Given the description of an element on the screen output the (x, y) to click on. 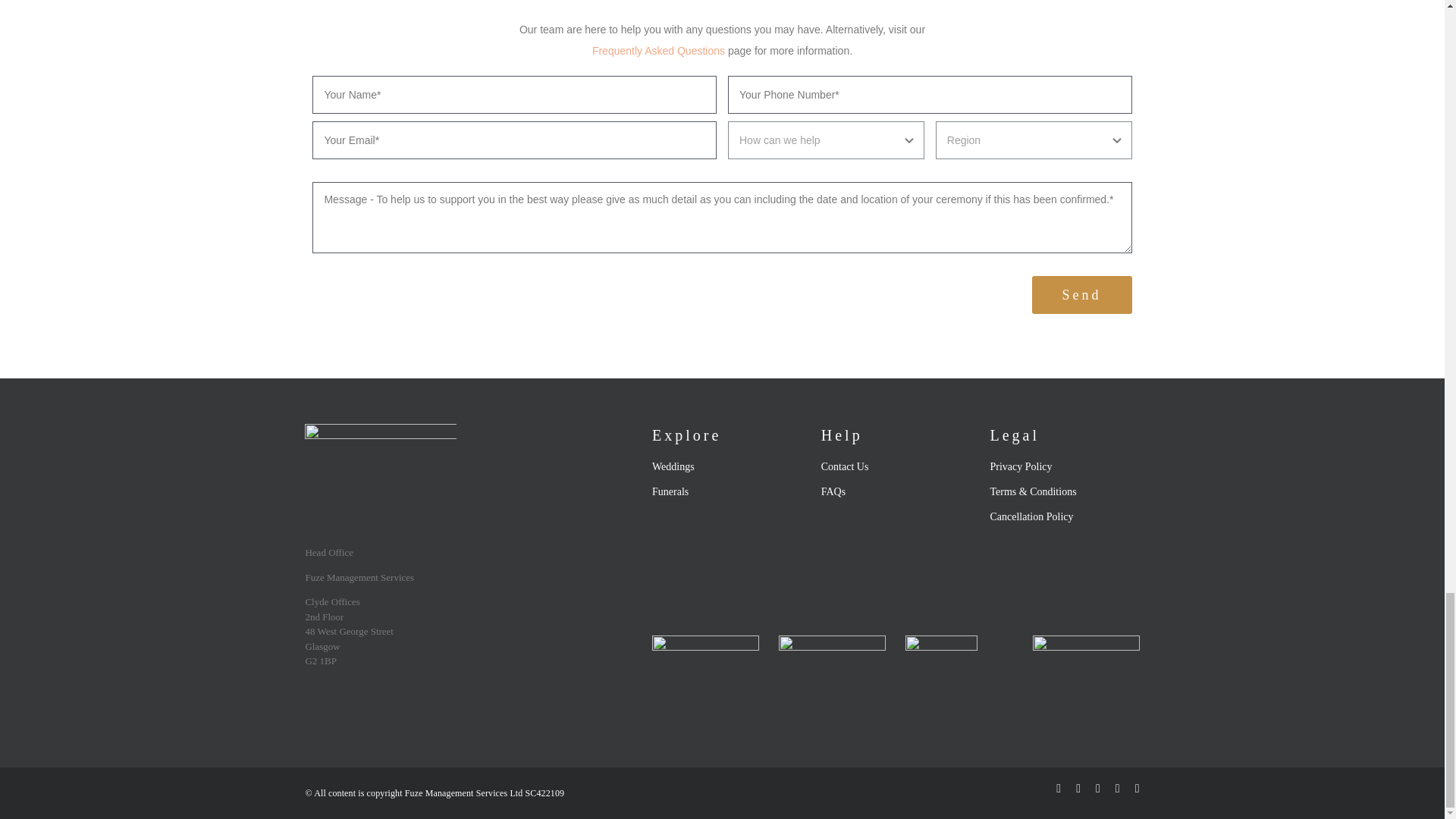
Weddings (727, 466)
Send (1082, 294)
SWA no backround 1 (705, 678)
Confetti NB1 (831, 678)
Frequently Asked Questions (658, 50)
